Given the description of an element on the screen output the (x, y) to click on. 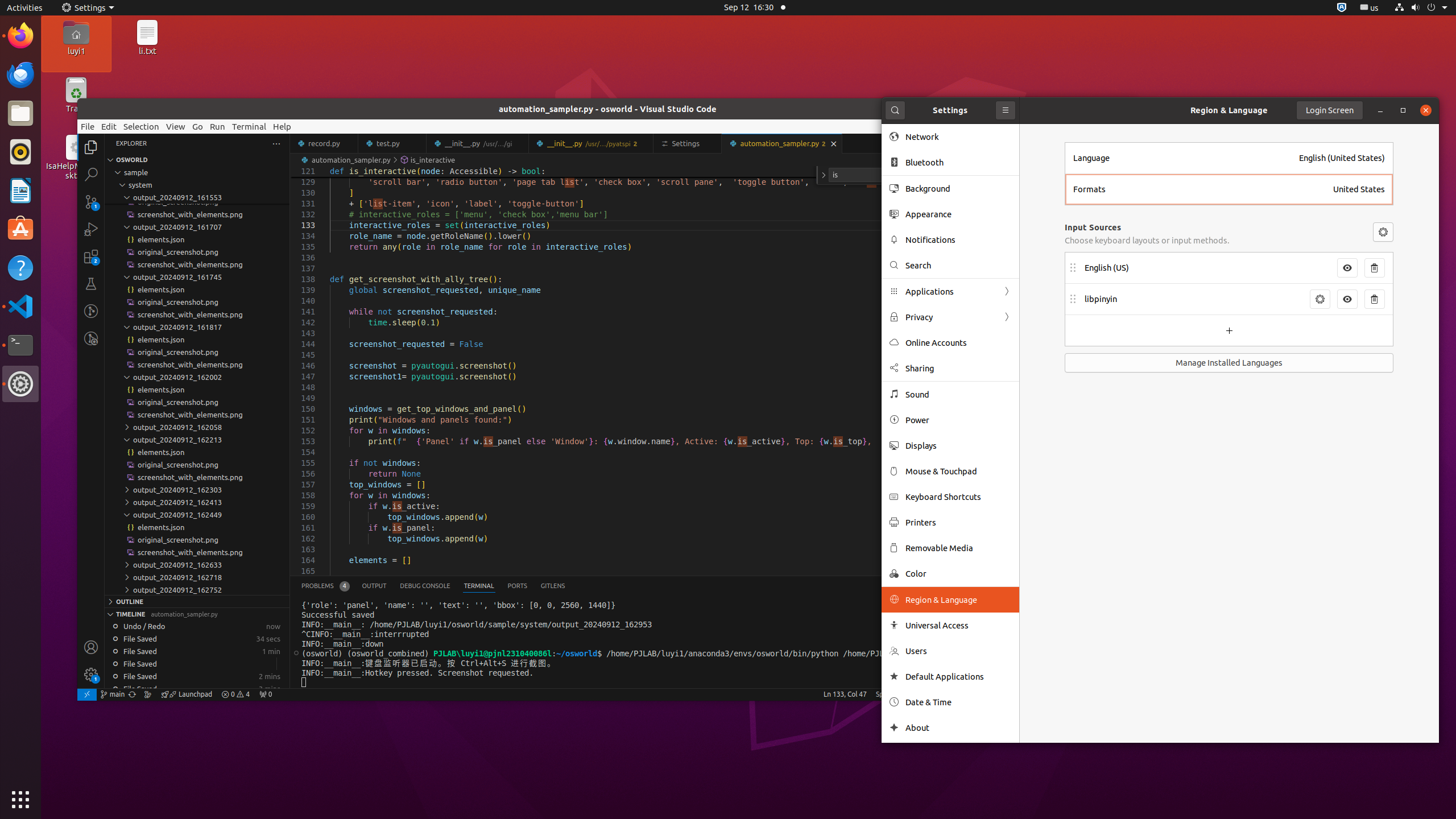
Settings Element type: push-button (20, 383)
Color Element type: label (958, 573)
Default Applications Element type: label (958, 676)
